Given the description of an element on the screen output the (x, y) to click on. 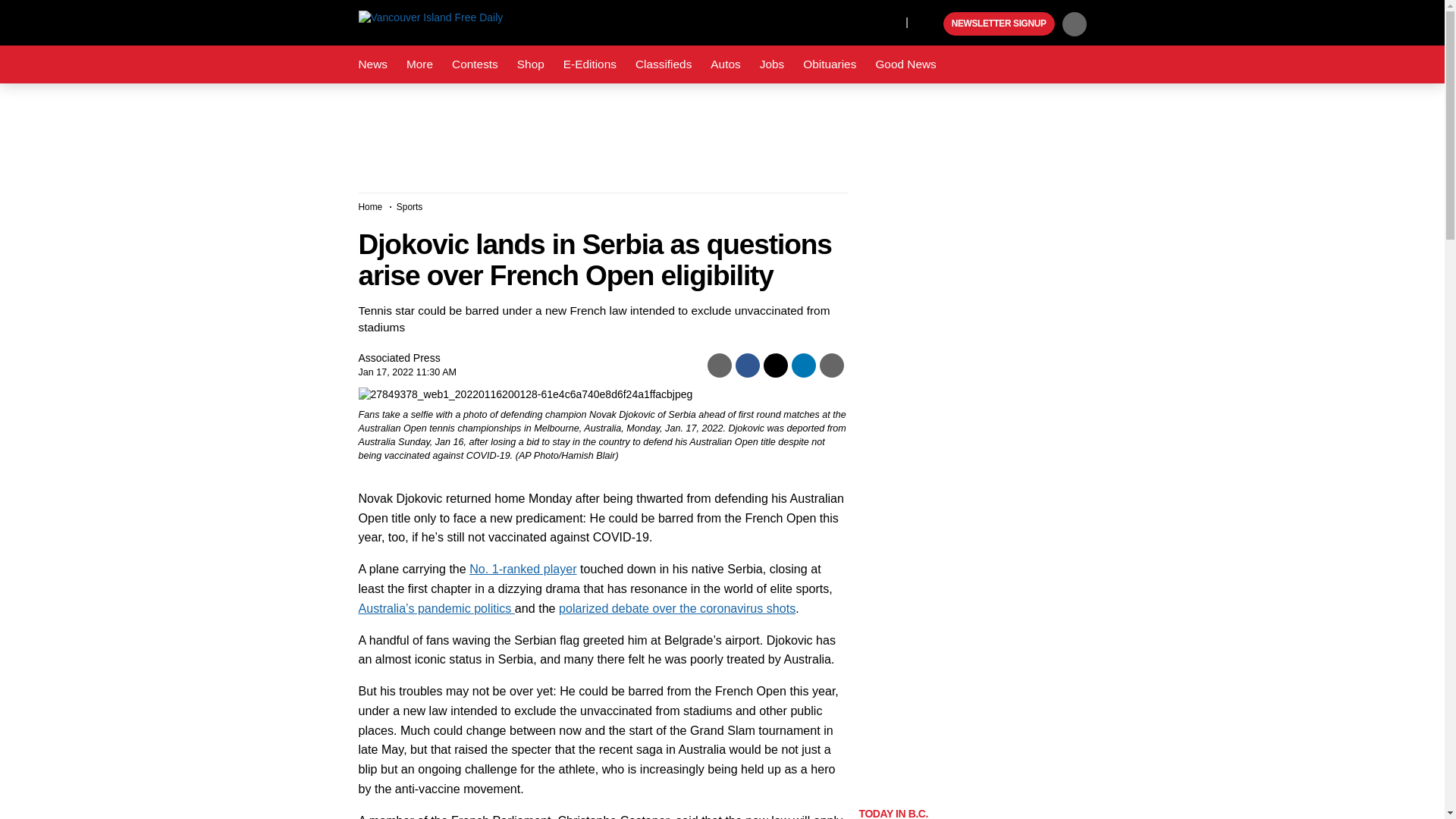
X (853, 21)
Black Press Media (929, 24)
Instagram (889, 21)
NEWSLETTER SIGNUP (998, 24)
Play (929, 24)
Facebook (823, 21)
News (372, 64)
